Given the description of an element on the screen output the (x, y) to click on. 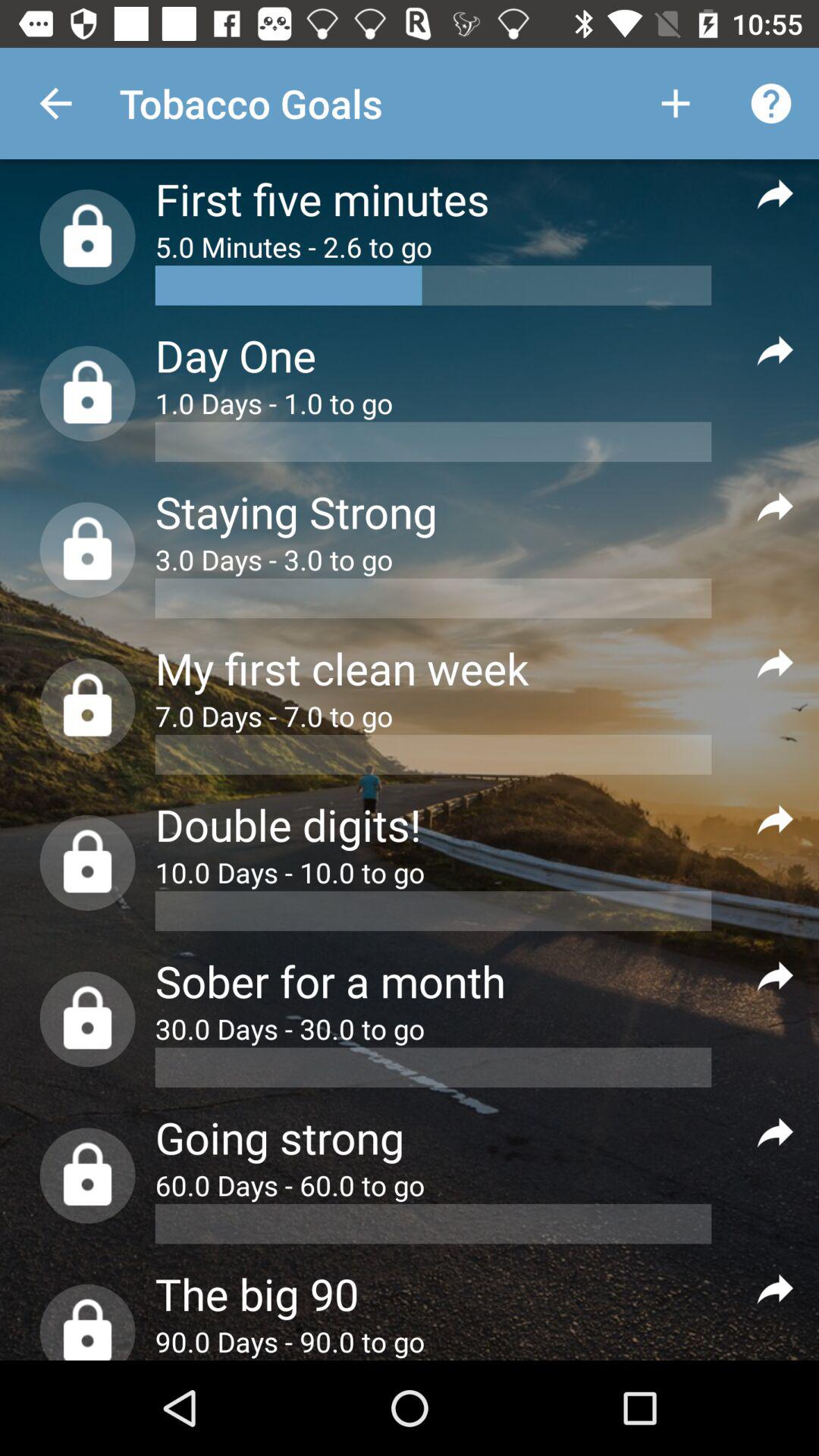
view this goal (775, 193)
